Given the description of an element on the screen output the (x, y) to click on. 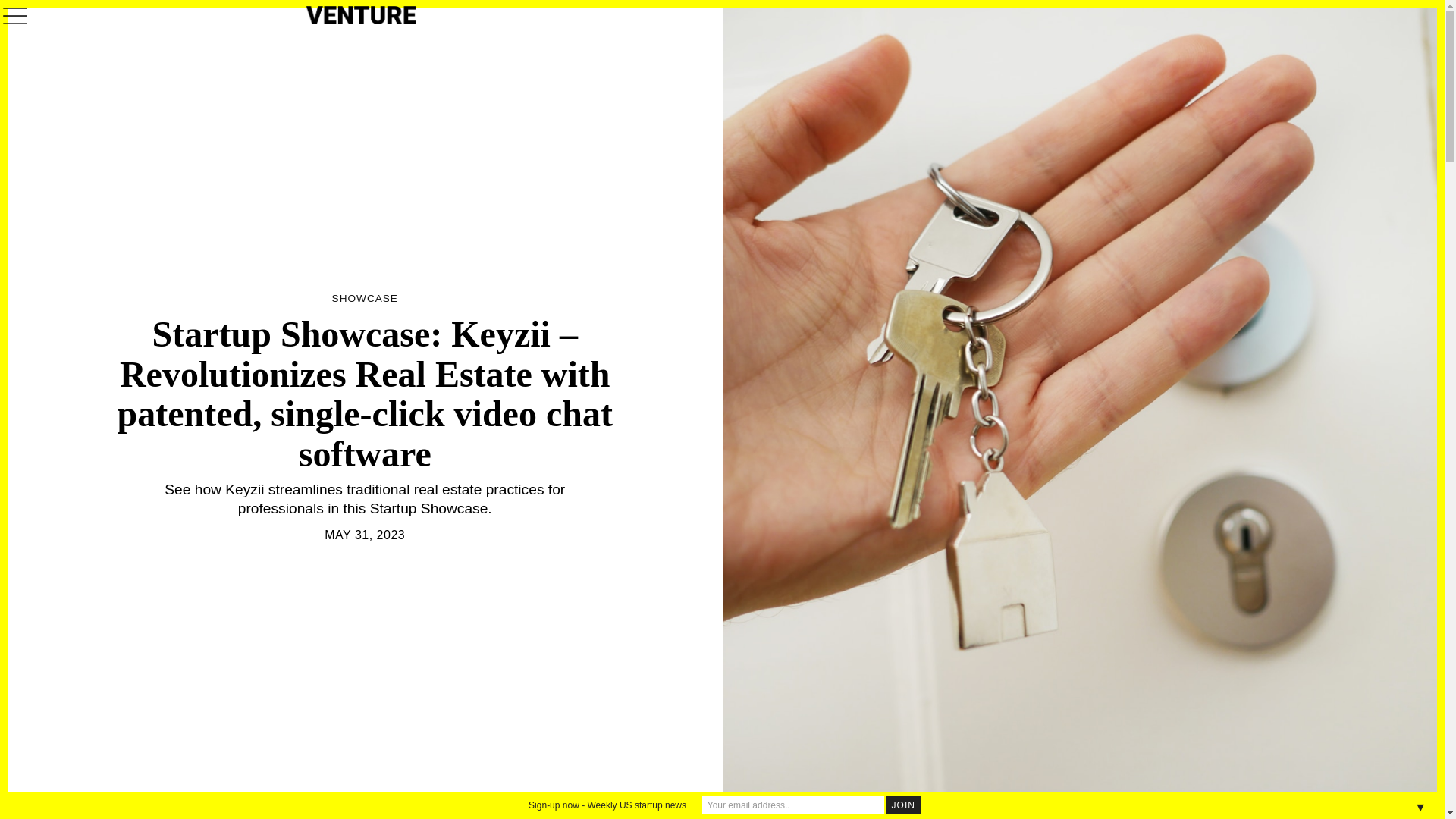
SHOWCASE (364, 298)
Join (903, 805)
